Given the description of an element on the screen output the (x, y) to click on. 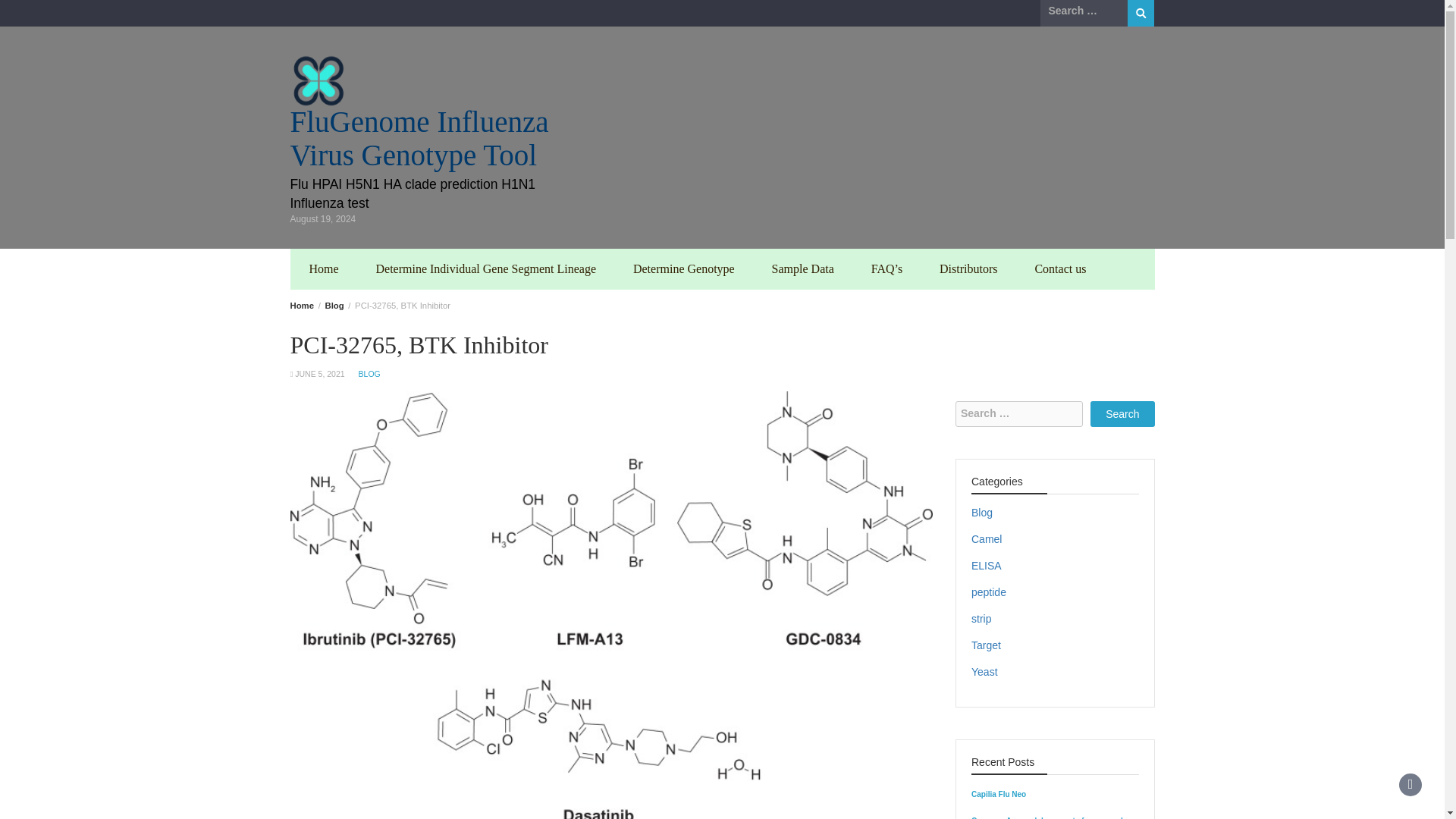
BLOG (369, 373)
Determine Individual Gene Segment Lineage (486, 268)
Search (1140, 13)
JUNE 5, 2021 (319, 373)
Blog (981, 512)
Contact us (1059, 268)
Search (1122, 413)
Camel (986, 539)
Home (301, 305)
Search for: (1083, 11)
